Given the description of an element on the screen output the (x, y) to click on. 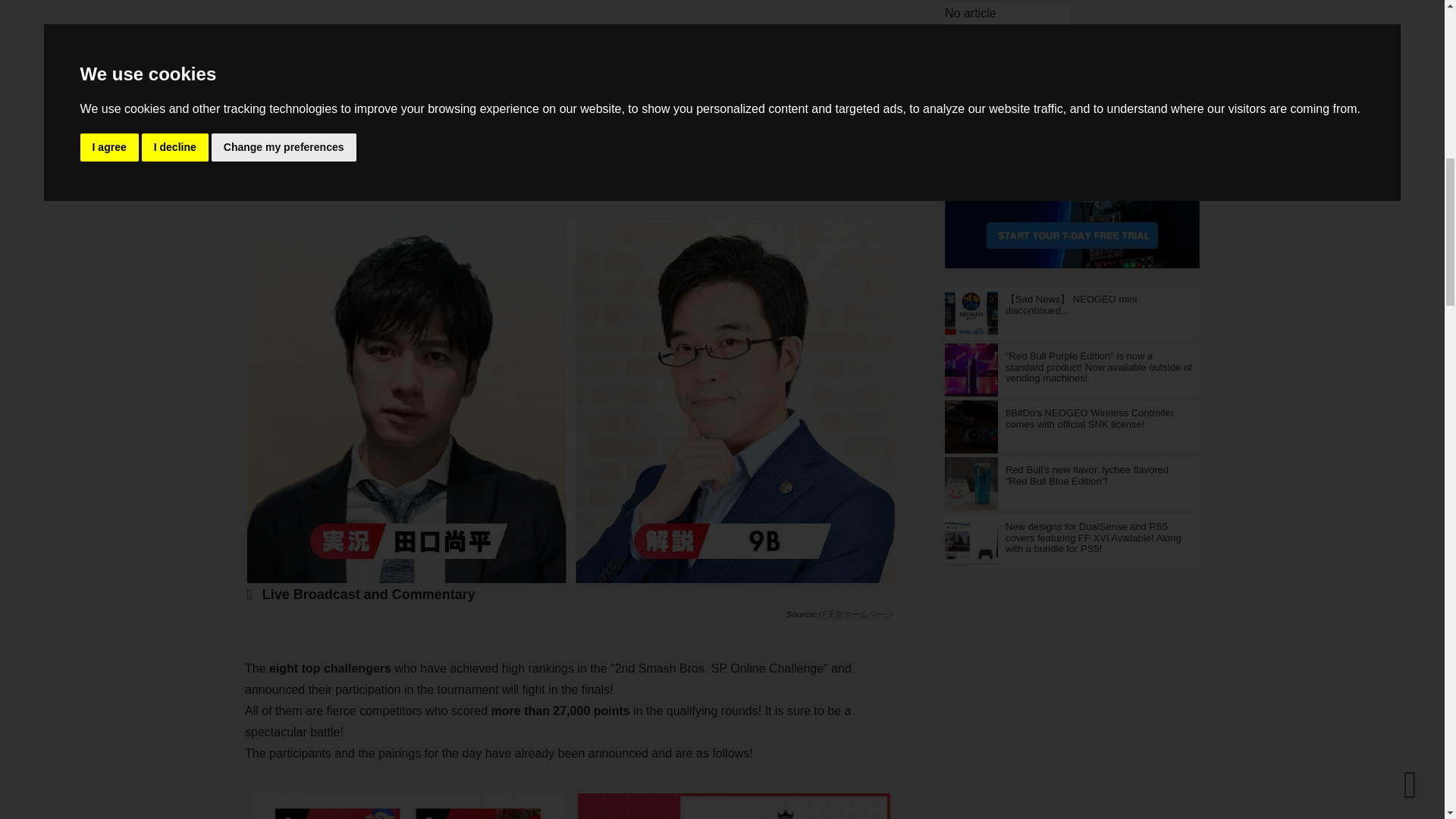
OPENREC.tv (602, 154)
9B (772, 192)
YouTube Live (501, 154)
Naouhei Taguchi (513, 192)
